Given the description of an element on the screen output the (x, y) to click on. 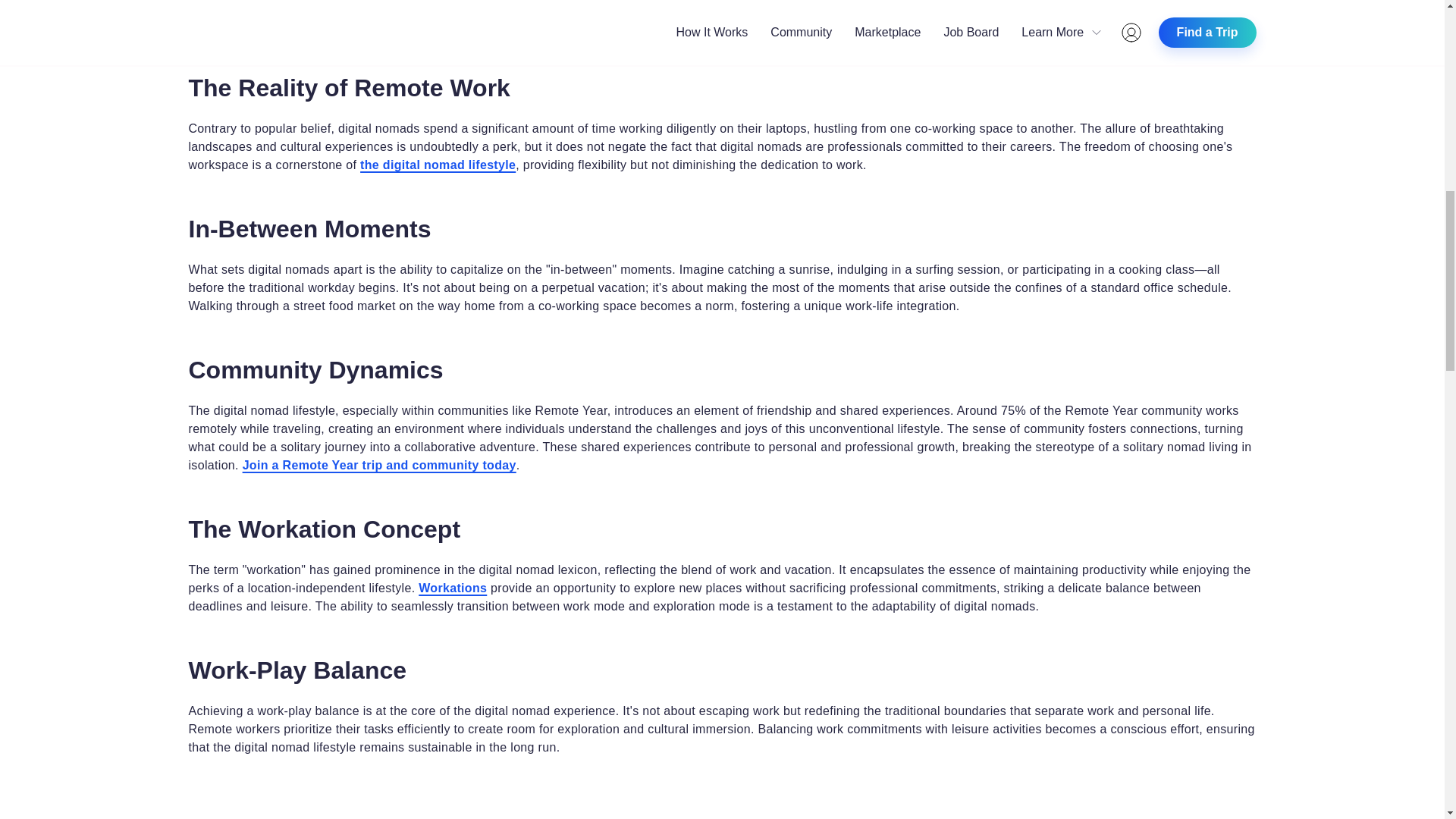
the digital nomad lifestyle (437, 164)
Join a Remote Year trip and community today (379, 464)
Workations (452, 587)
